Given the description of an element on the screen output the (x, y) to click on. 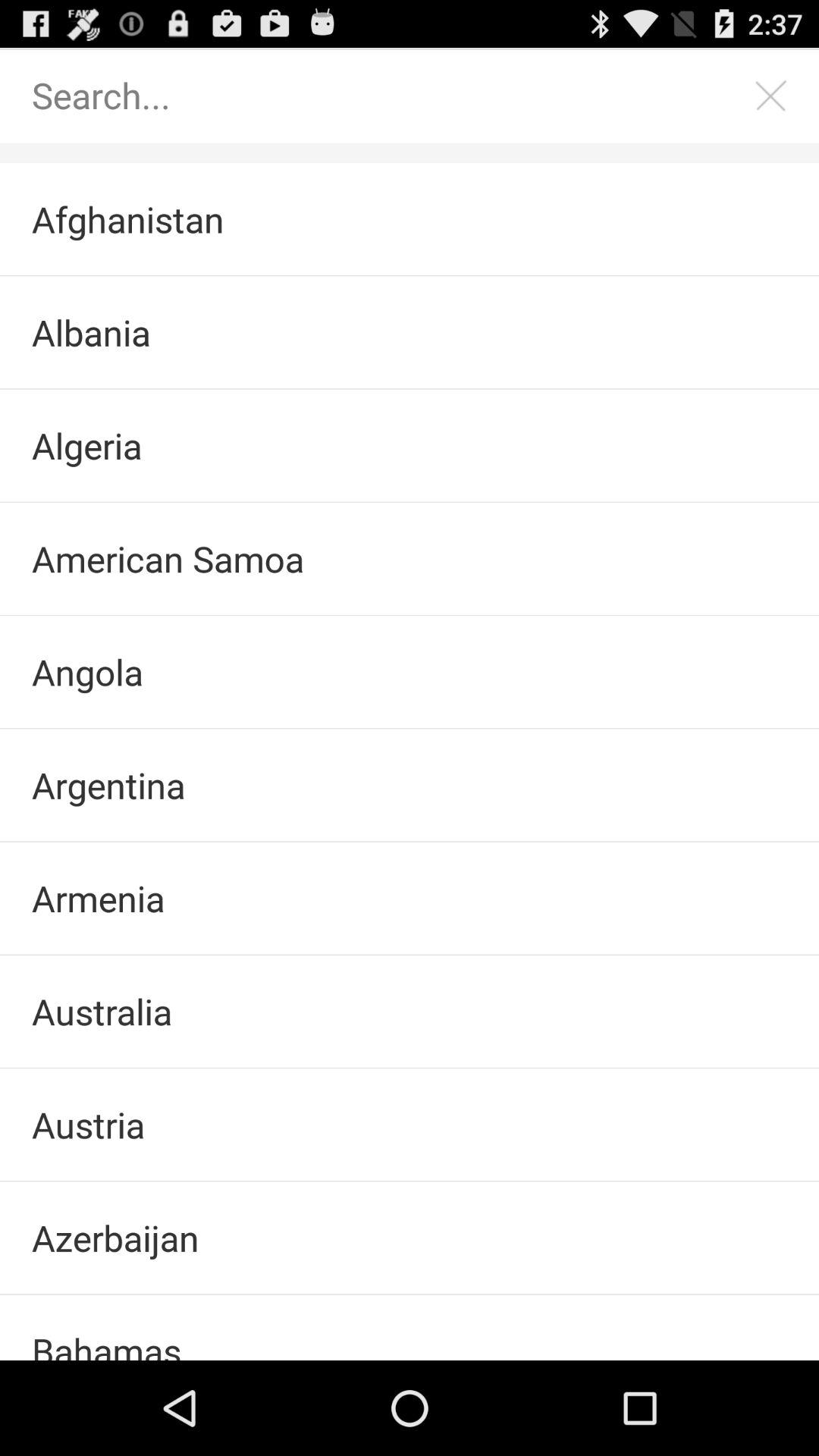
search for country (393, 95)
